Given the description of an element on the screen output the (x, y) to click on. 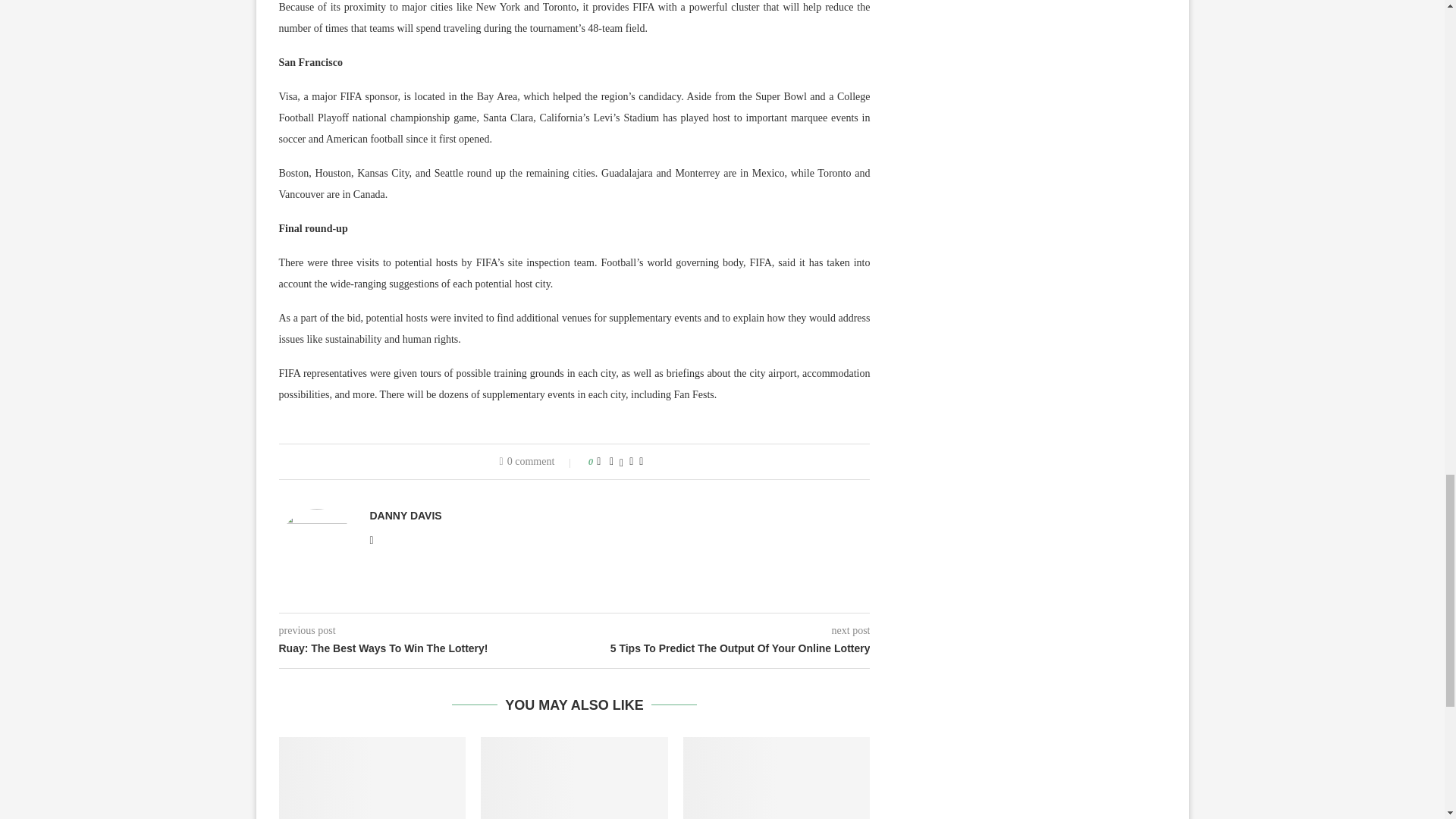
Author Danny Davis (405, 515)
How to make money in ipl betting: Wolf 77 (574, 778)
Top 5 reasons to gamble at an online casino (776, 778)
